Given the description of an element on the screen output the (x, y) to click on. 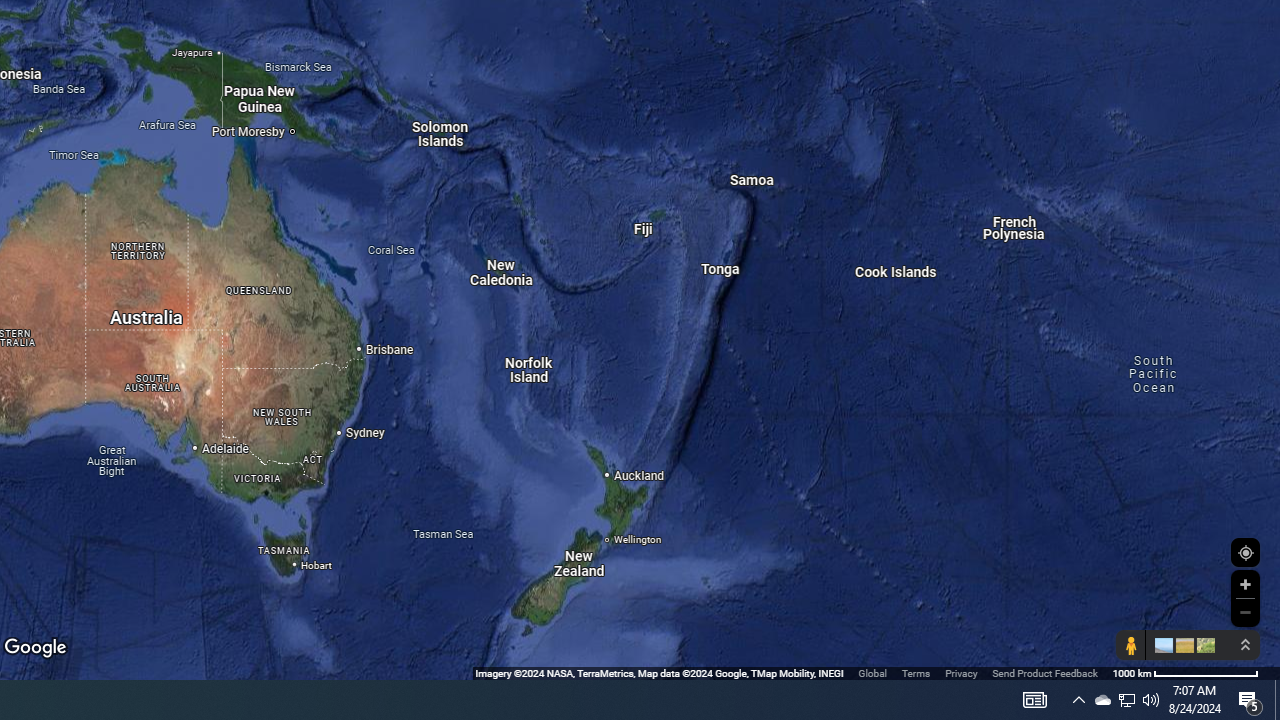
Global (872, 672)
Show Street View coverage (1130, 645)
Zoom out (1245, 612)
Zoom in (1245, 584)
1000 km (1185, 672)
Show imagery (1202, 645)
Show Your Location (1245, 552)
Send Product Feedback (1045, 672)
